Given the description of an element on the screen output the (x, y) to click on. 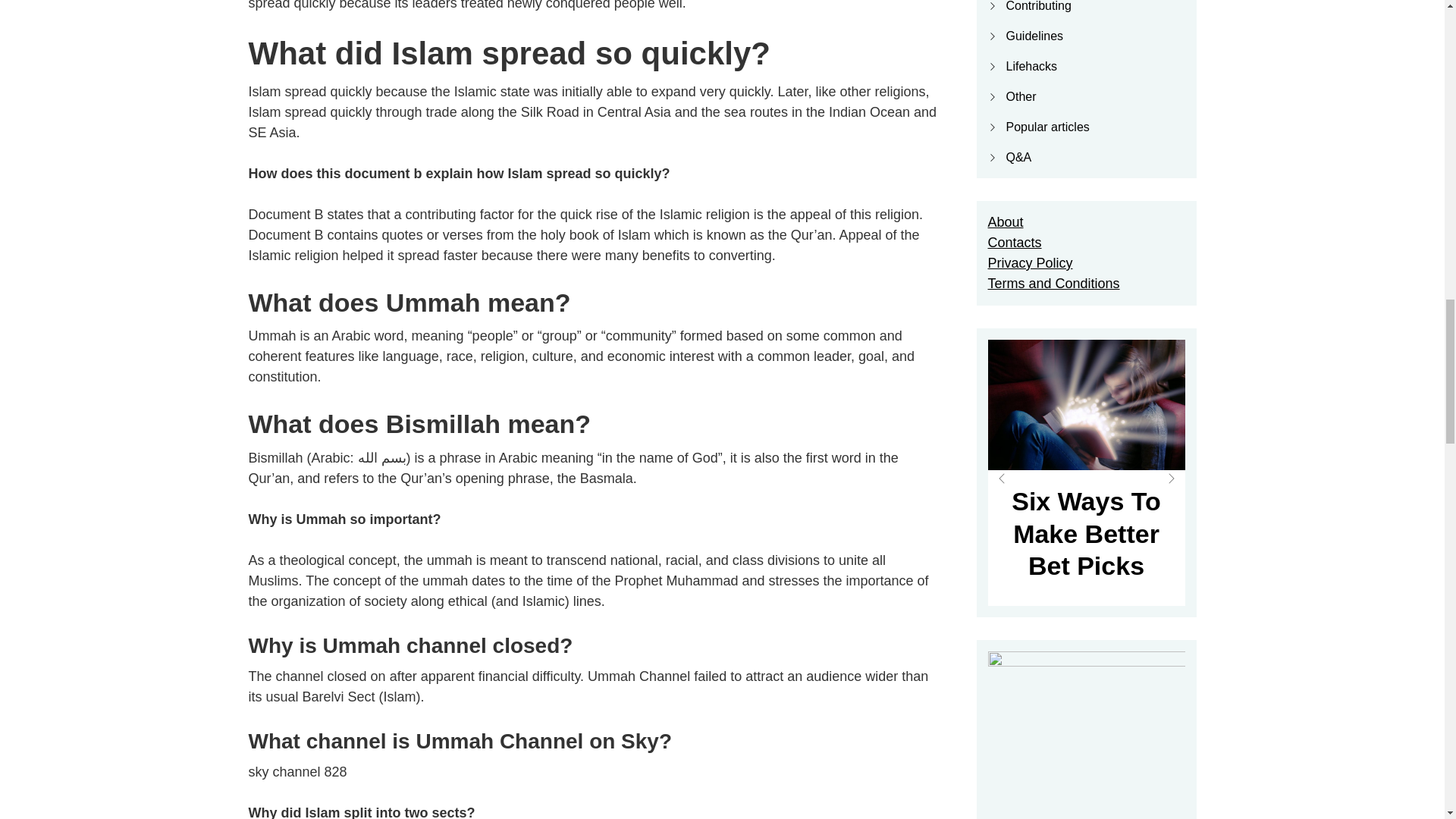
Guidelines (1034, 35)
Lifehacks (1031, 65)
Contributing (1038, 6)
About (1005, 222)
Other (1020, 96)
Popular articles (1047, 126)
